Given the description of an element on the screen output the (x, y) to click on. 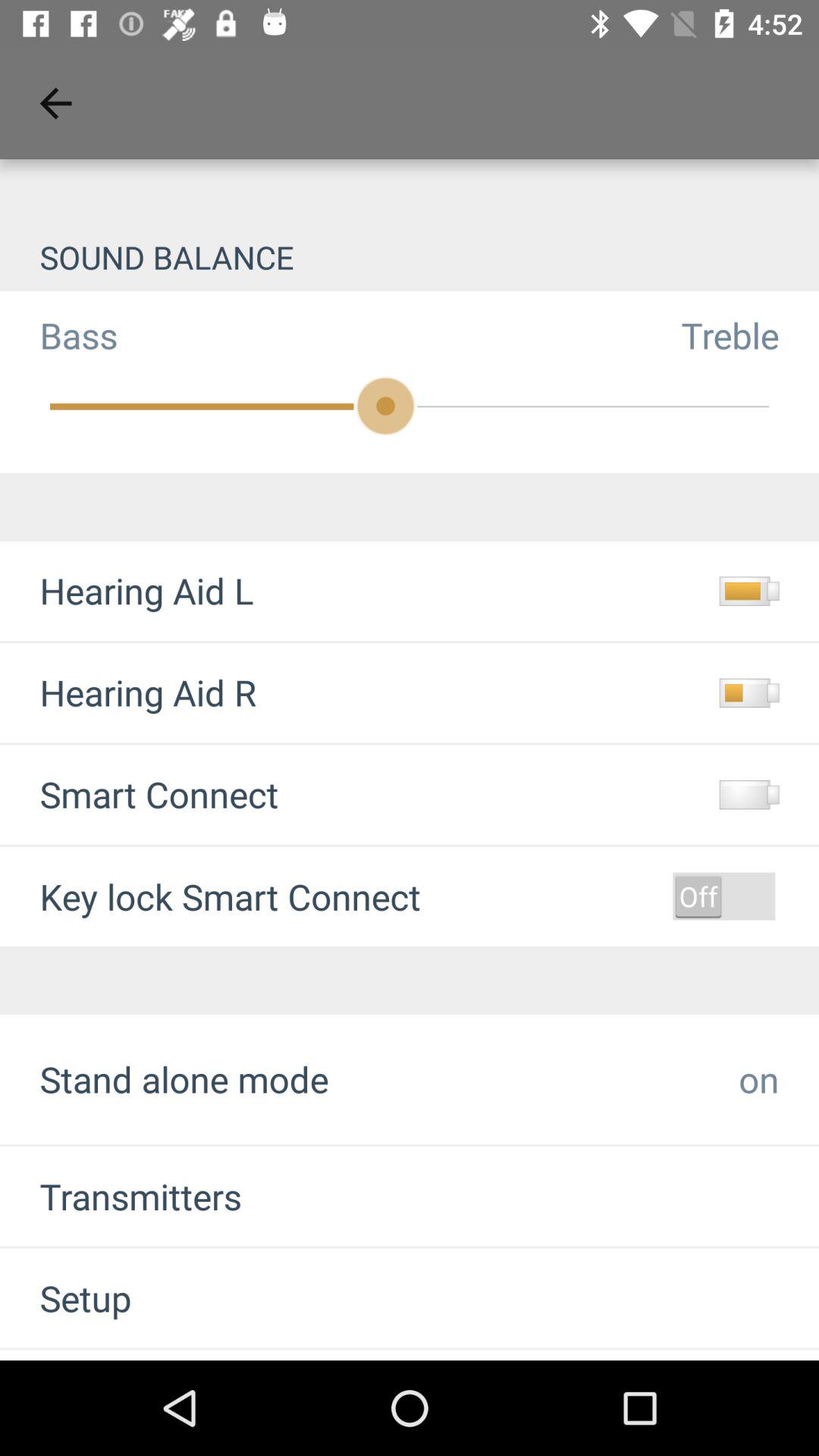
swipe to treble icon (750, 335)
